Given the description of an element on the screen output the (x, y) to click on. 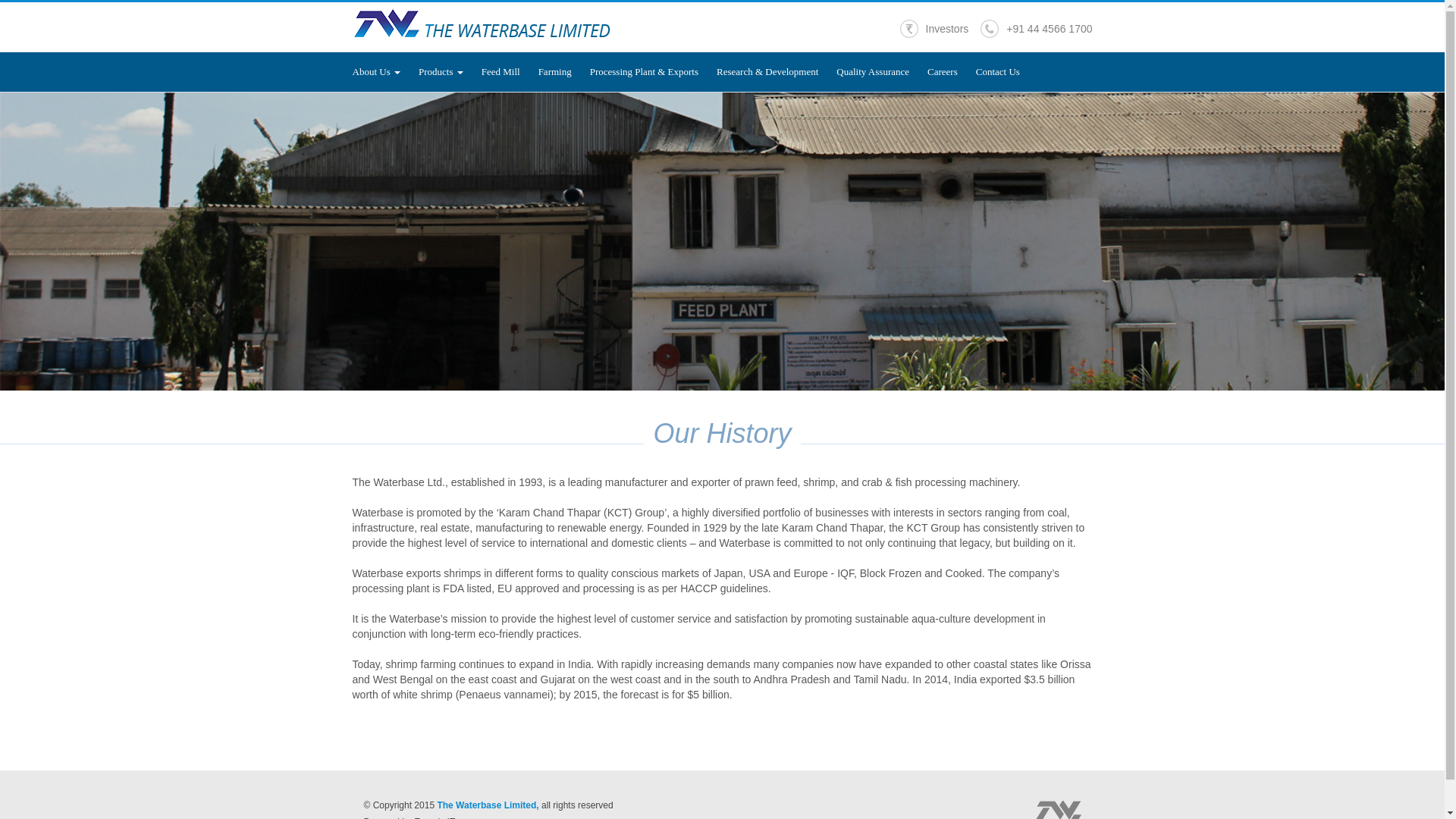
Experis IT (433, 817)
Products (450, 71)
Quality Assurance (881, 71)
The Waterbase Limited (1058, 809)
Farming (563, 71)
About Us (384, 71)
Contact Us (997, 71)
Careers (951, 71)
Feed Mill (509, 71)
Investors (934, 28)
